Given the description of an element on the screen output the (x, y) to click on. 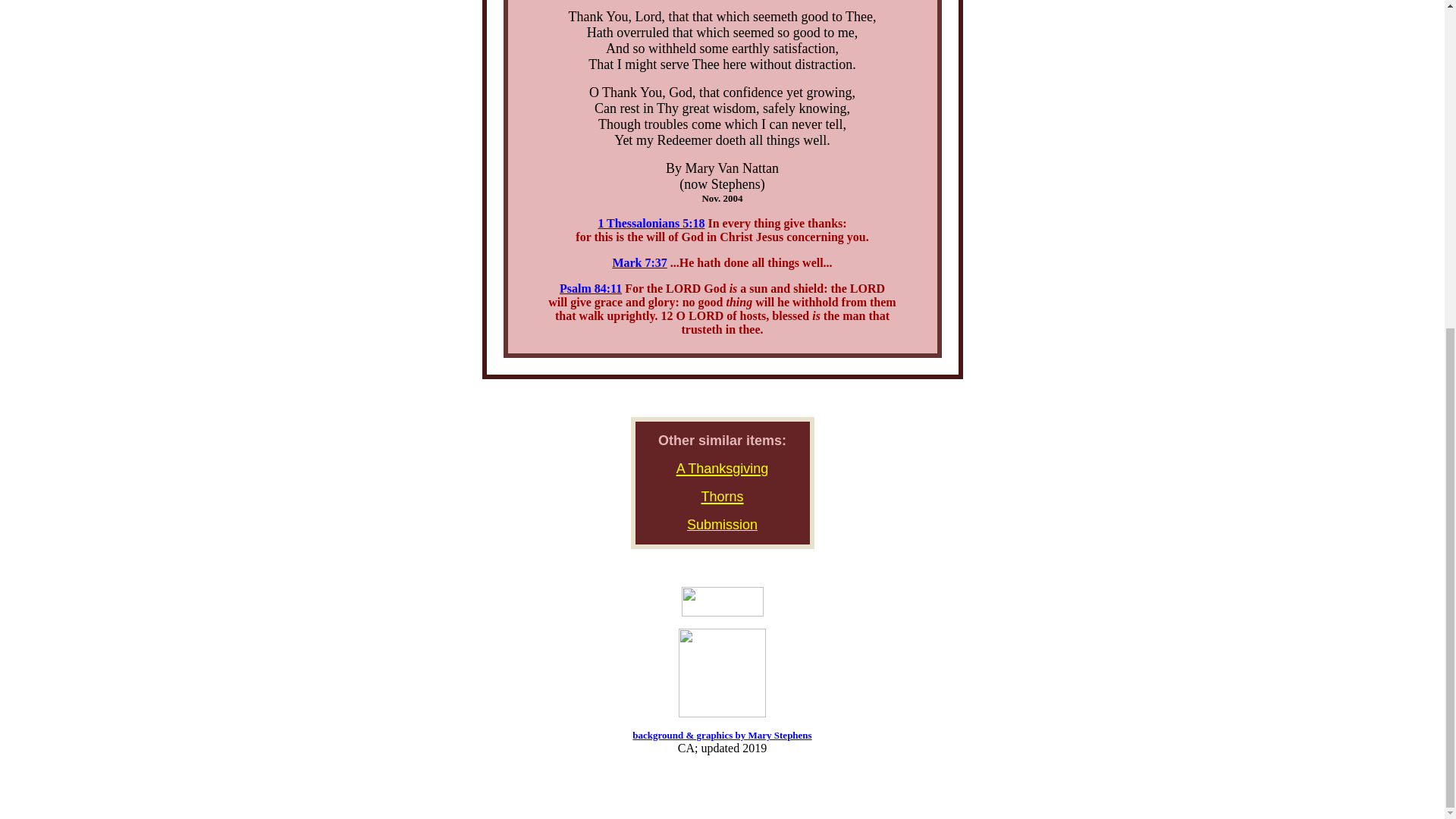
Submission (722, 524)
Psalm 84:11 (590, 287)
Thorns (721, 495)
1 Thessalonians 5:18 (650, 223)
A Thanksgiving (722, 466)
Mark 7:37 (638, 262)
